Given the description of an element on the screen output the (x, y) to click on. 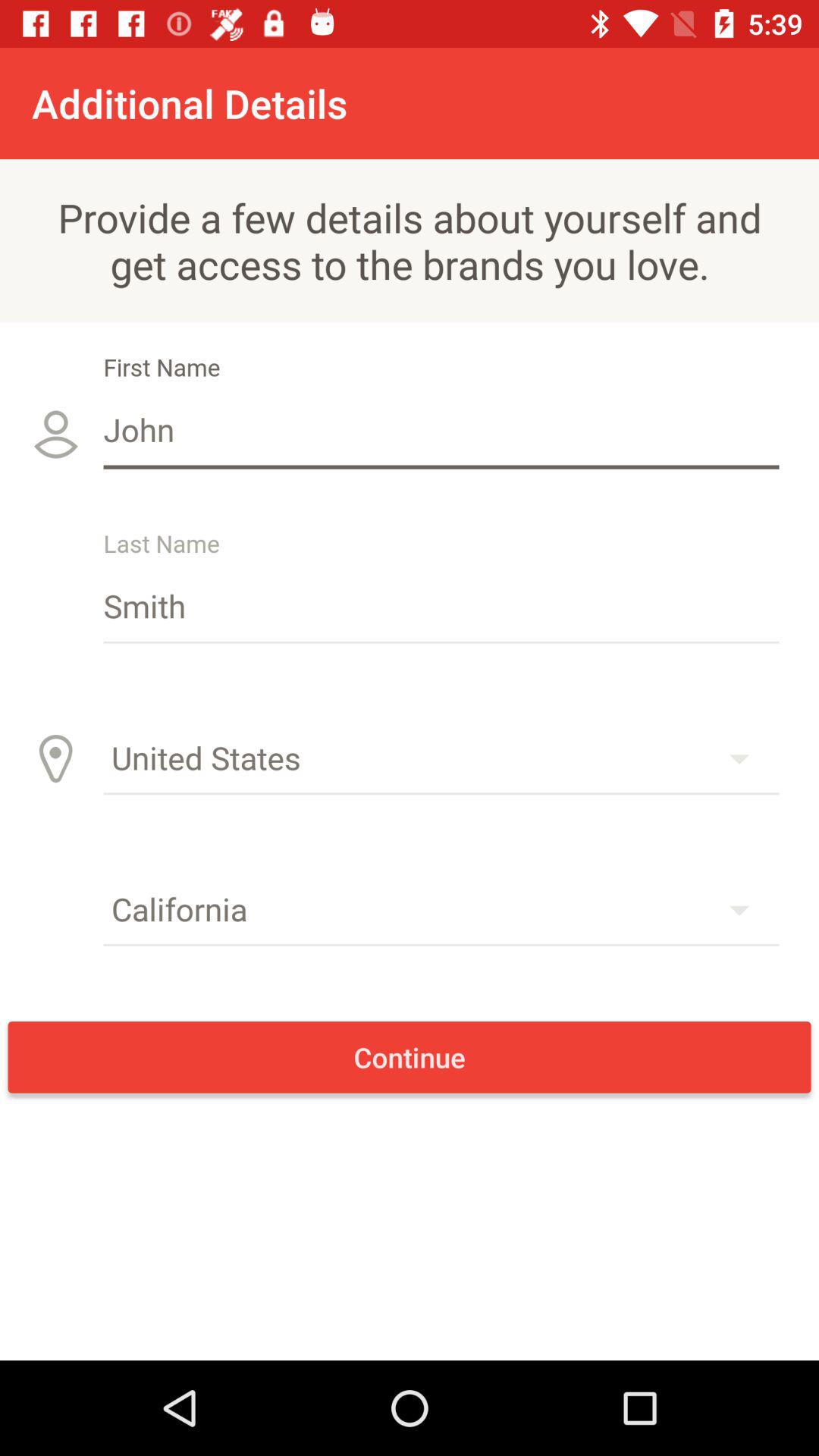
select the continue item (409, 1057)
